Given the description of an element on the screen output the (x, y) to click on. 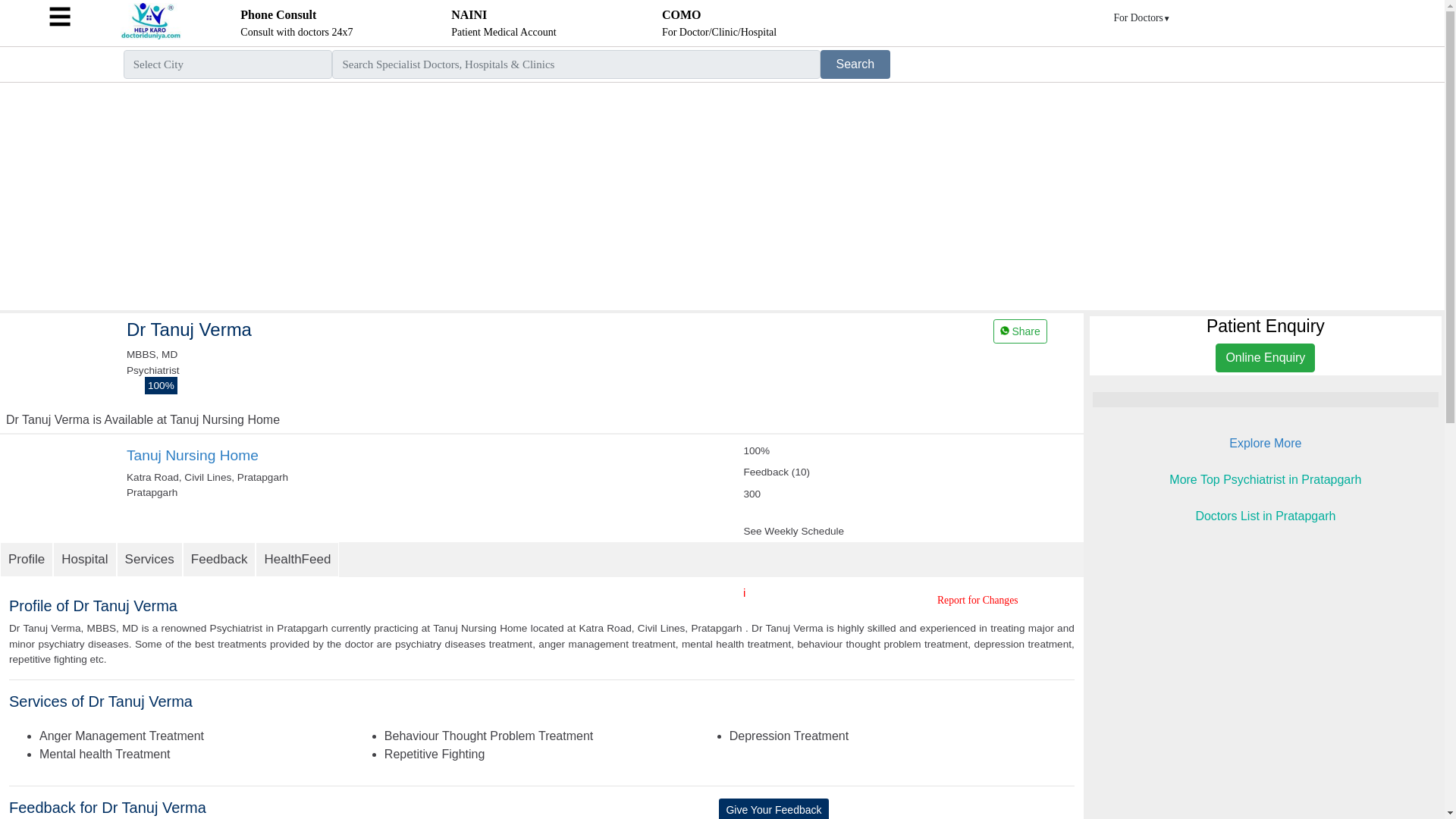
Naini (503, 23)
Services (149, 559)
Search (503, 23)
COMO (855, 63)
Share (296, 23)
Report for Changes (719, 23)
Online Consult (1019, 331)
Hospital (977, 600)
Tanuj Nursing Home (296, 23)
See Weekly Schedule (84, 559)
HealthFeed (192, 455)
Give Your Feedback (793, 531)
Feedback (297, 559)
